Given the description of an element on the screen output the (x, y) to click on. 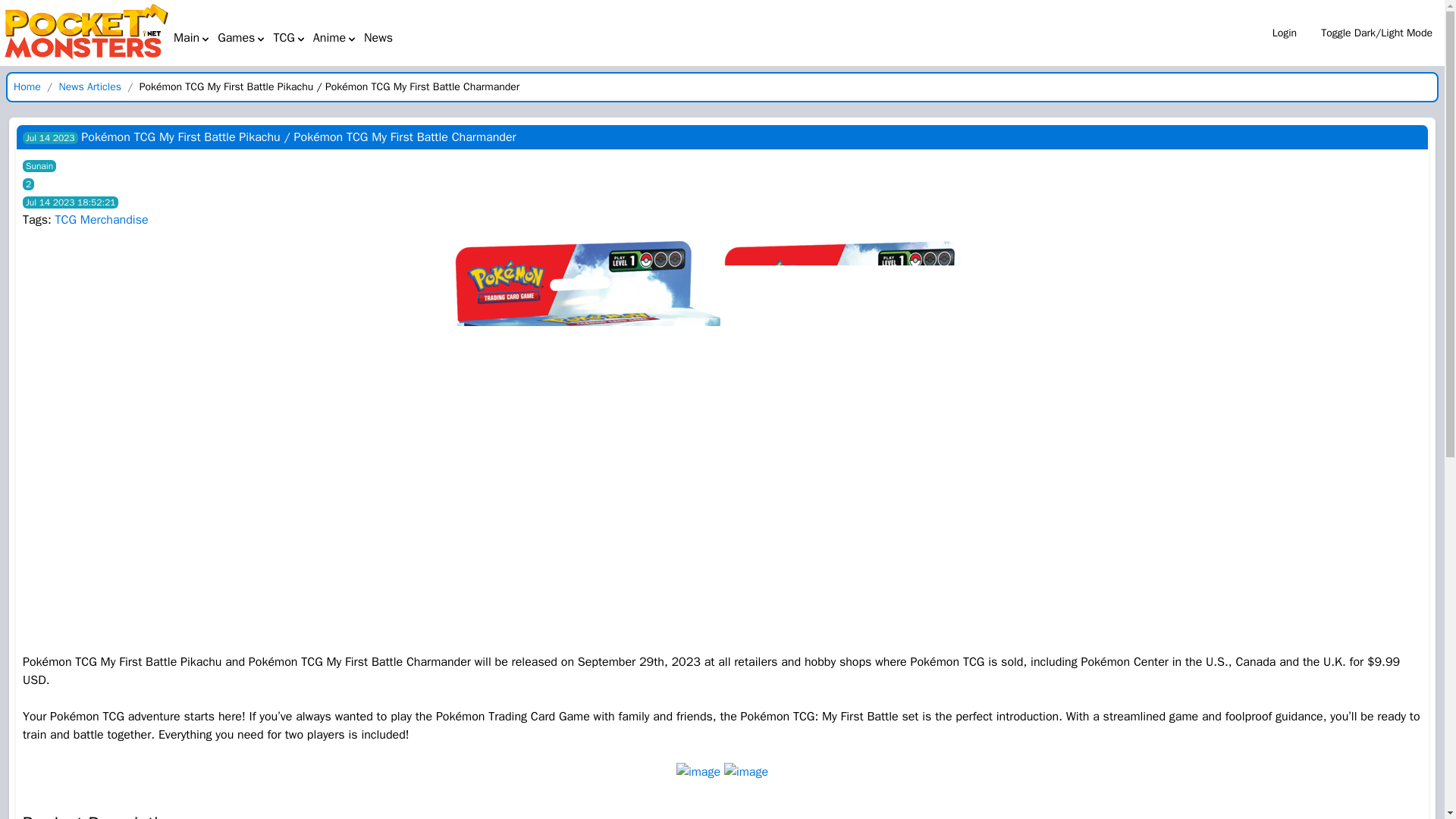
Anime (335, 37)
Games (241, 37)
Main (192, 37)
News (378, 37)
News (378, 37)
Login (1284, 32)
TCG (288, 37)
